Given the description of an element on the screen output the (x, y) to click on. 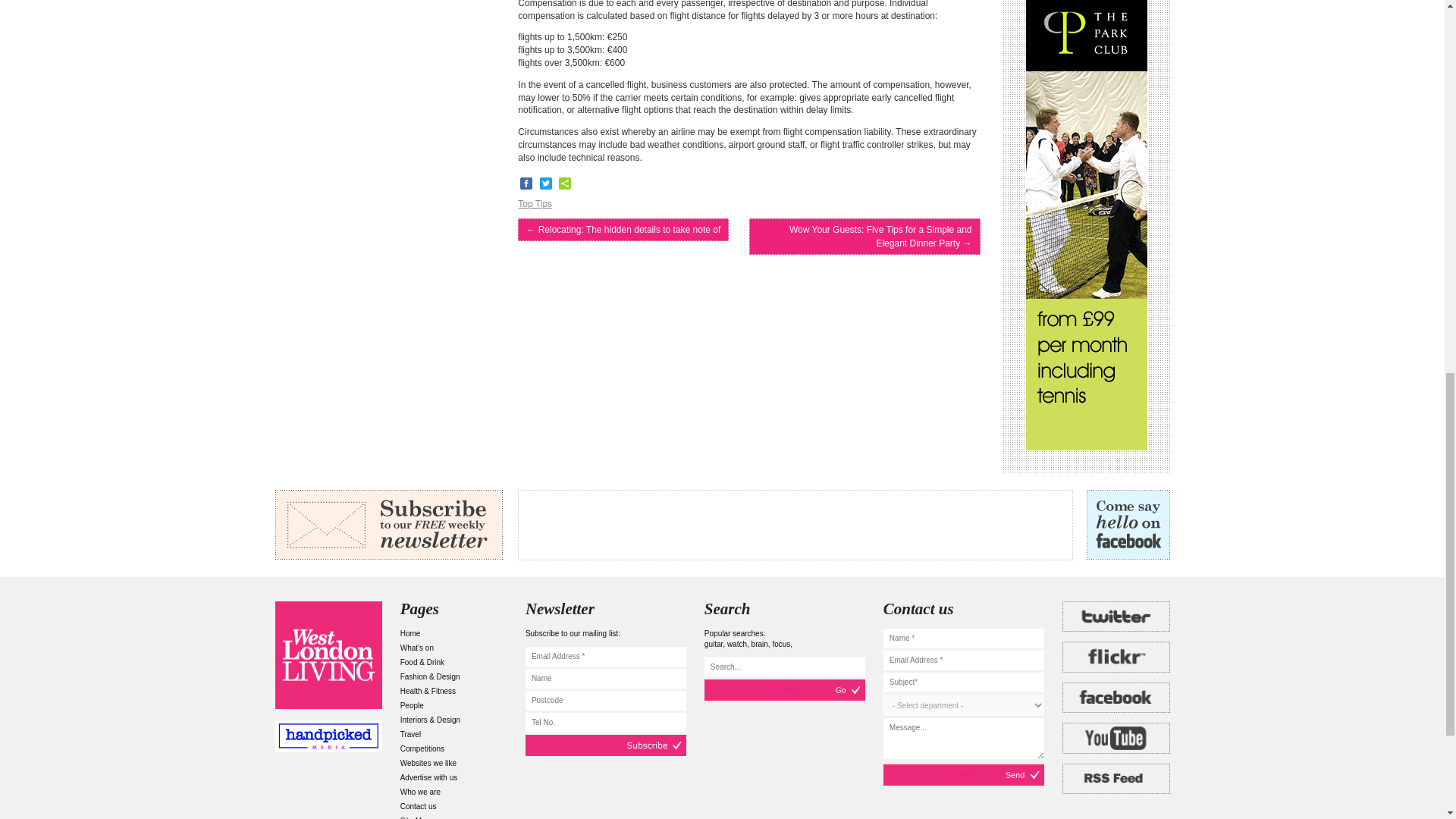
Send (963, 774)
Postcode (605, 700)
Subscribe (605, 744)
Search (784, 690)
Name (605, 678)
Tel No. (605, 722)
